Given the description of an element on the screen output the (x, y) to click on. 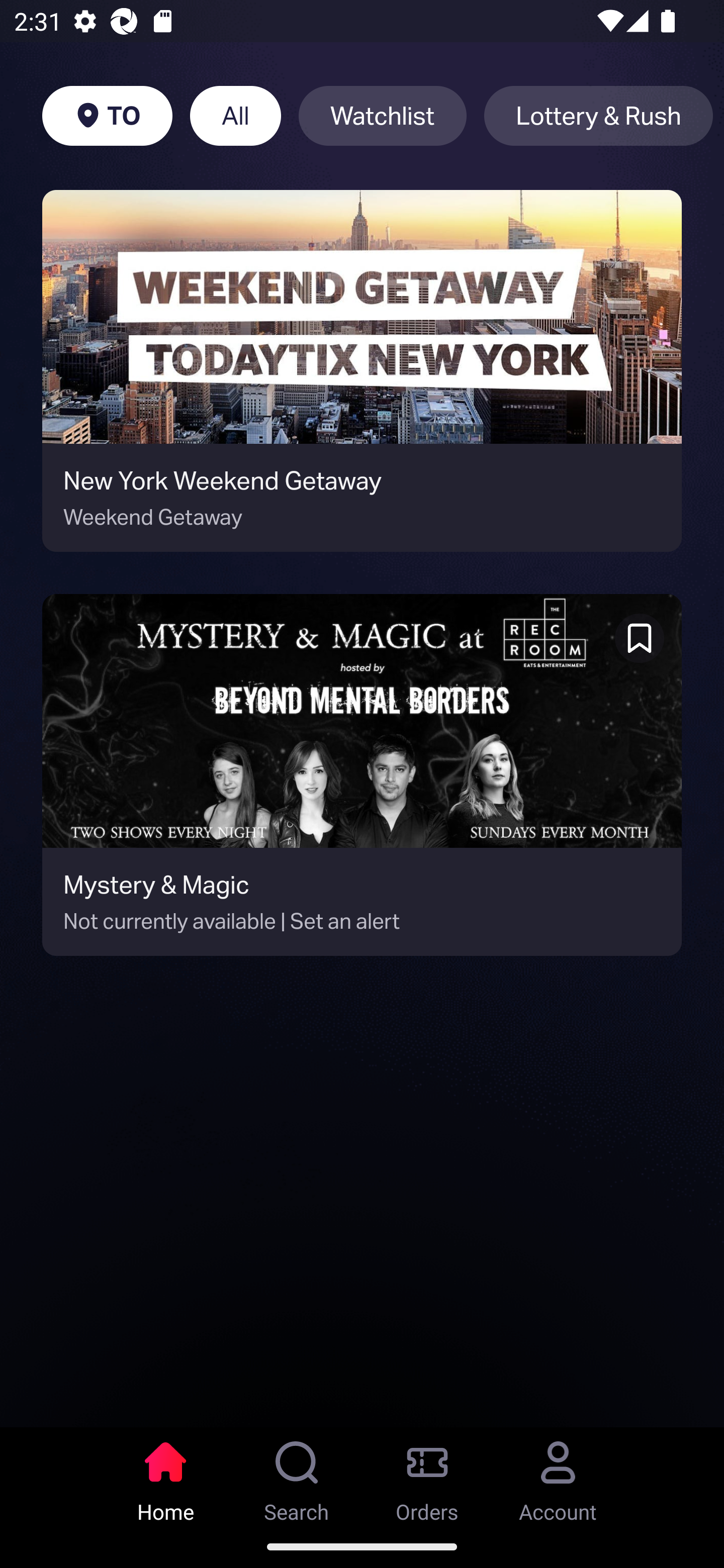
TO (106, 115)
All (234, 115)
Watchlist (382, 115)
Lottery & Rush (598, 115)
New York Weekend Getaway Weekend Getaway (361, 370)
Search (296, 1475)
Orders (427, 1475)
Account (558, 1475)
